Given the description of an element on the screen output the (x, y) to click on. 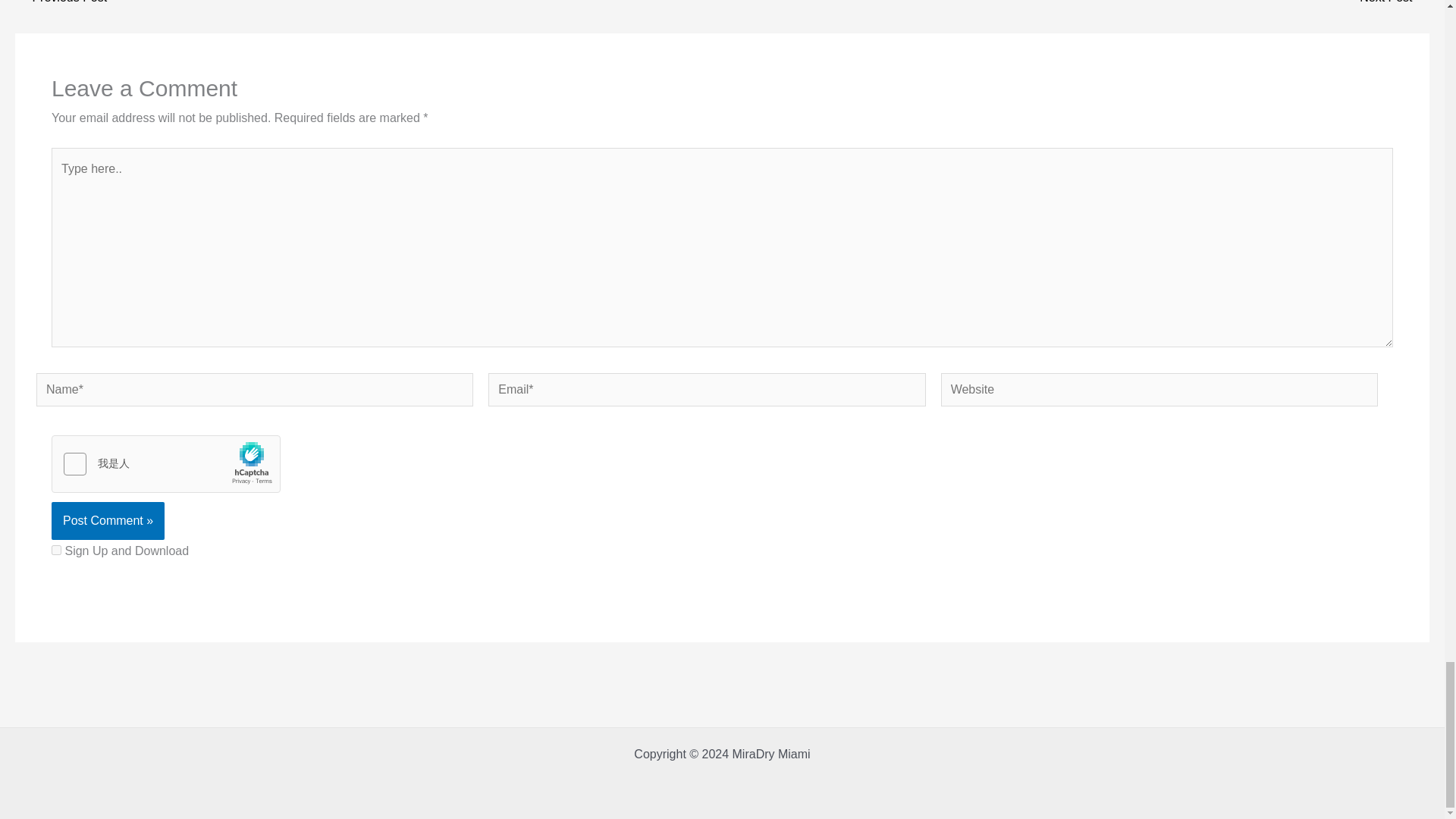
1 (55, 550)
A Quick Guide to 7 Excessive Sweating Causes (1393, 2)
Understanding Your Sweaty Armpits: Are They Normal? (61, 2)
Widget containing checkbox for hCaptcha security challenge (165, 464)
